Given the description of an element on the screen output the (x, y) to click on. 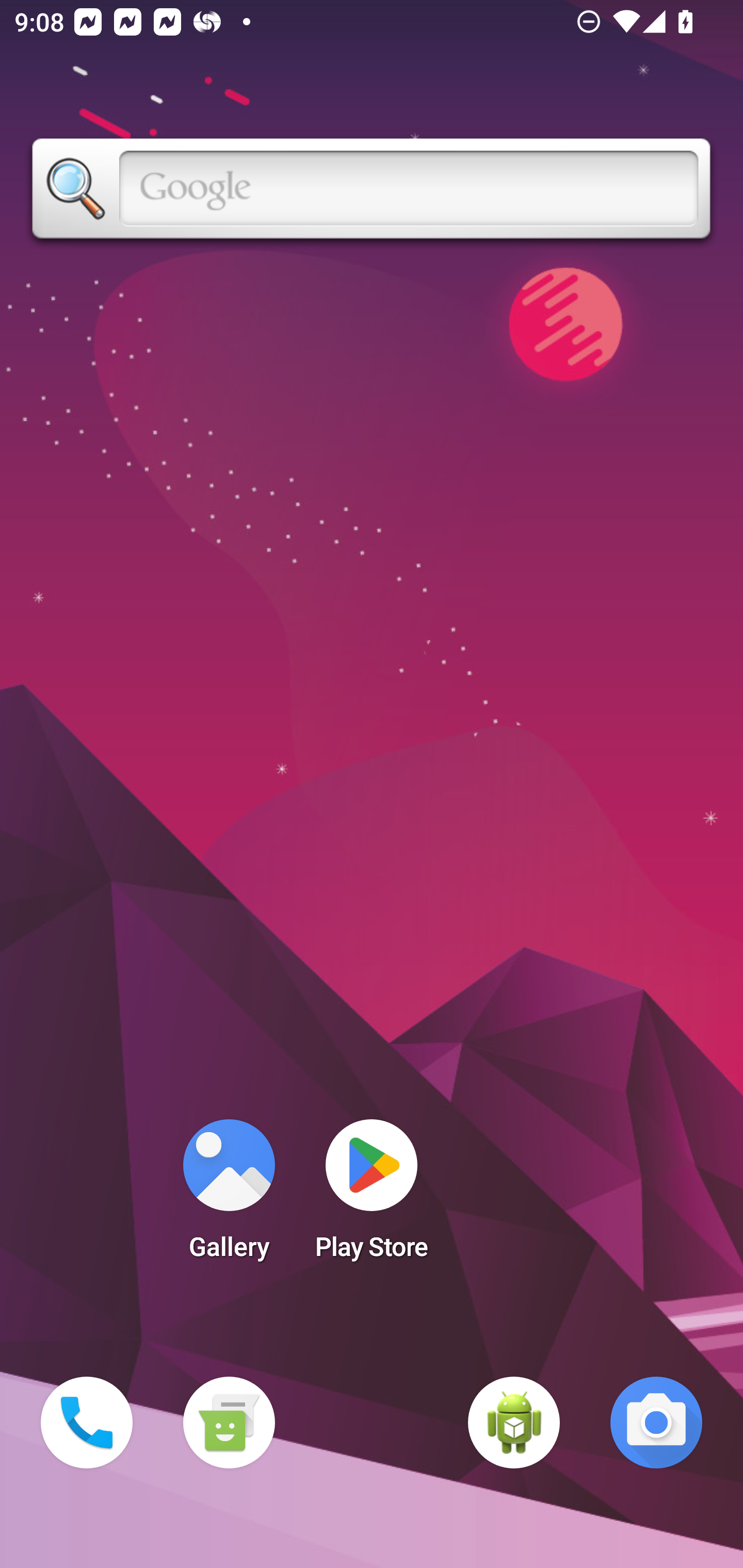
Gallery (228, 1195)
Play Store (371, 1195)
Phone (86, 1422)
Messaging (228, 1422)
WebView Browser Tester (513, 1422)
Camera (656, 1422)
